Given the description of an element on the screen output the (x, y) to click on. 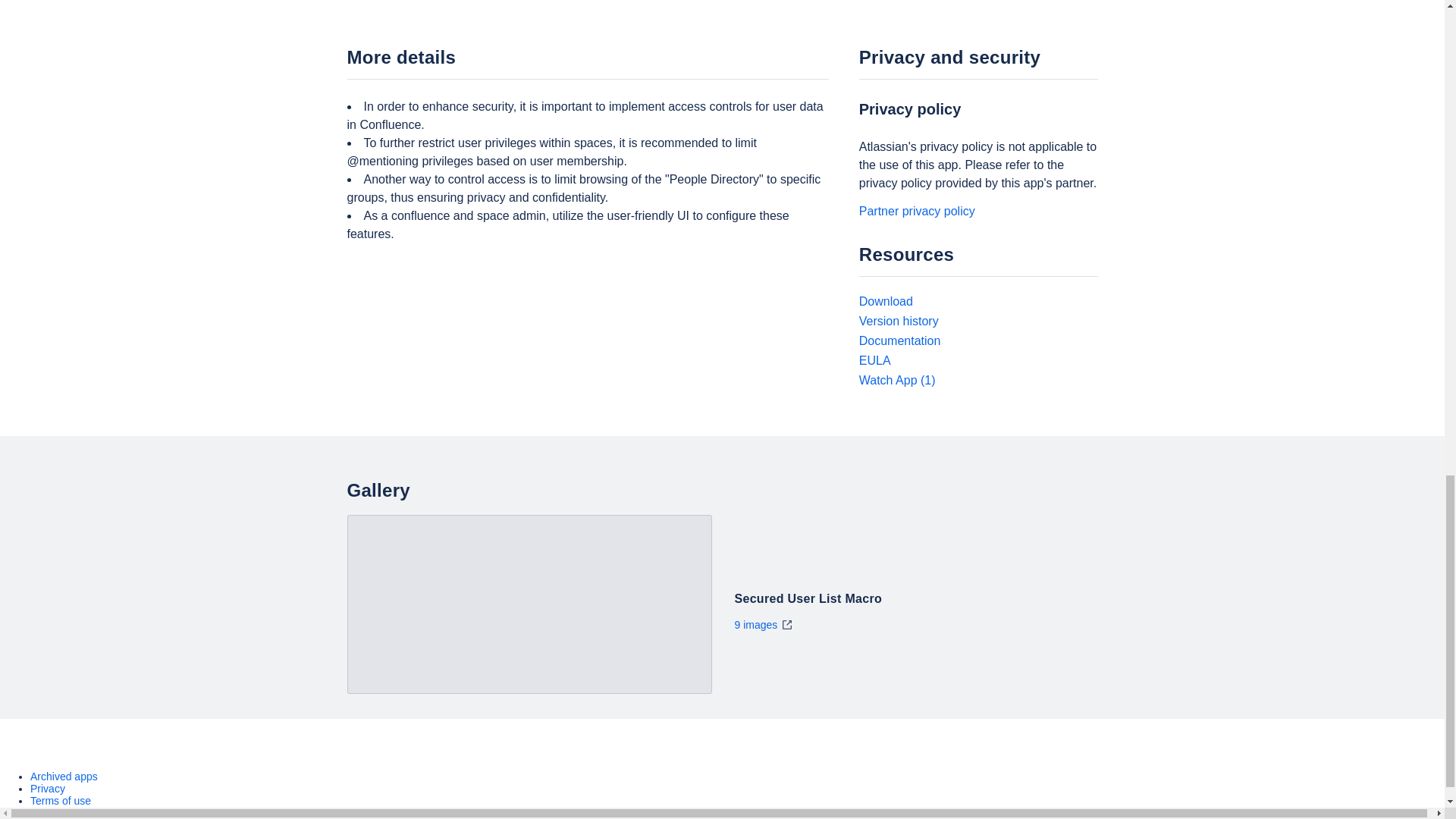
Terms of use (60, 800)
Privacy (47, 788)
Archived apps (63, 776)
9 images (762, 624)
Version history (899, 320)
Download (885, 300)
Partner privacy policy (917, 210)
EULA (875, 359)
Documentation (899, 340)
